Given the description of an element on the screen output the (x, y) to click on. 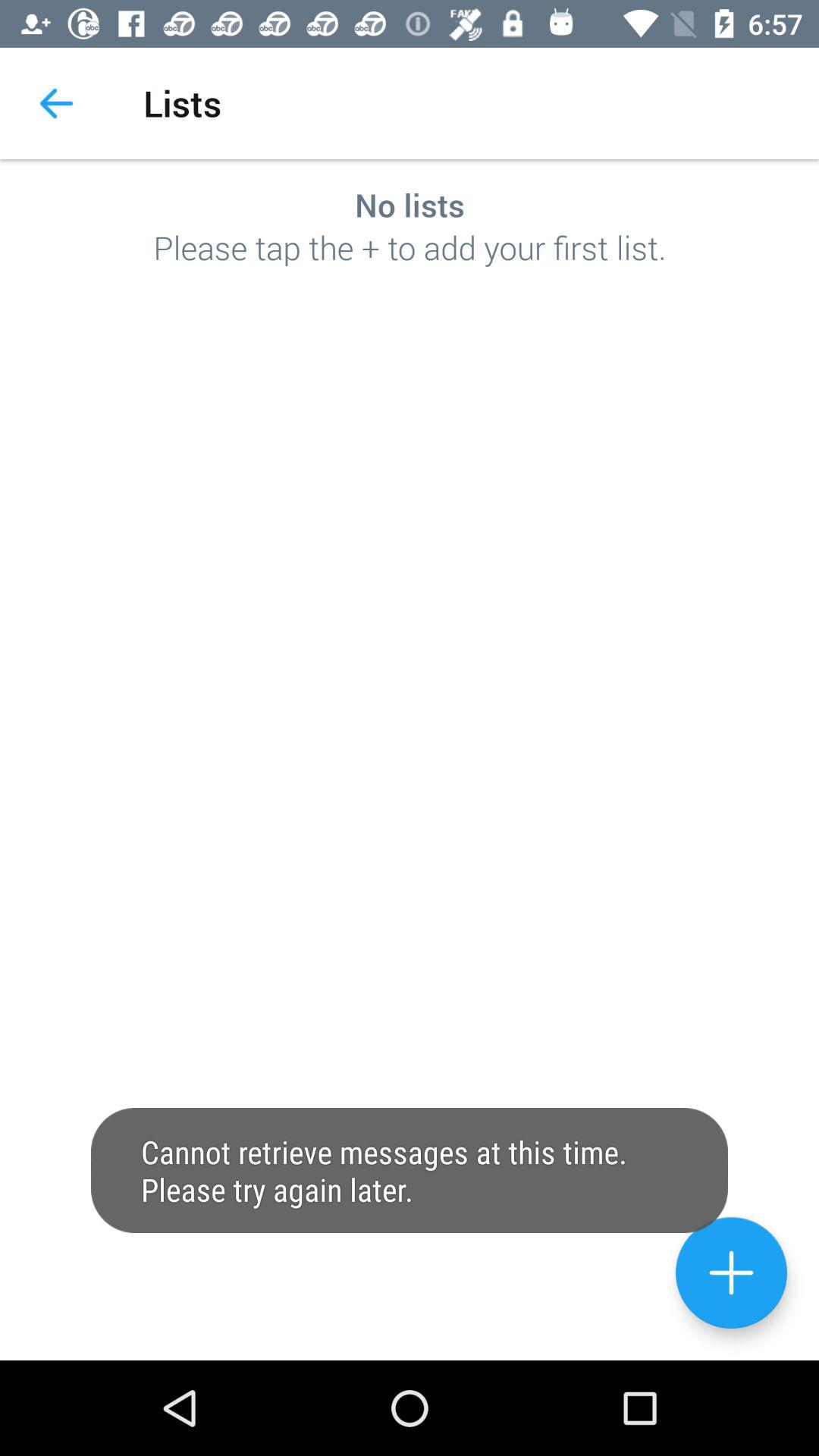
go back to menu (731, 1272)
